Given the description of an element on the screen output the (x, y) to click on. 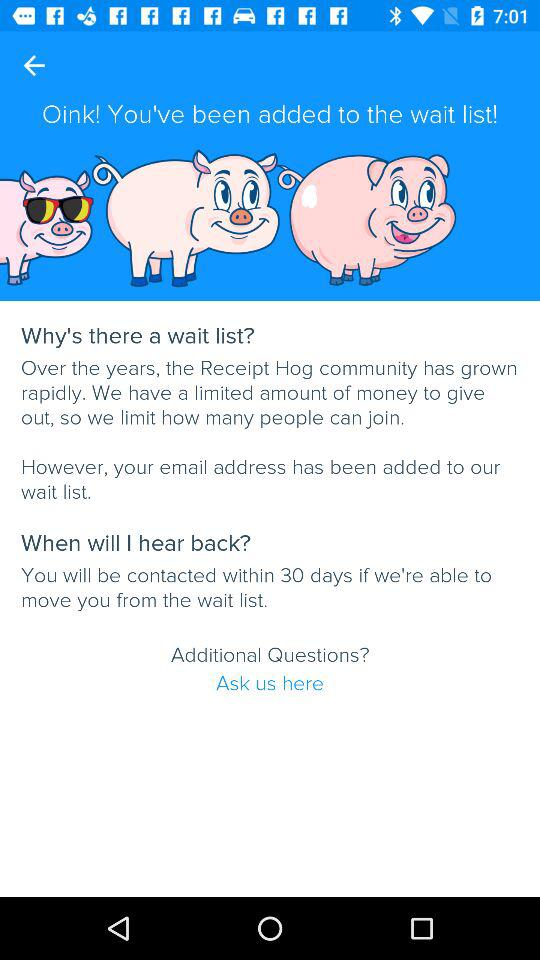
scroll until the ask us here item (269, 683)
